Given the description of an element on the screen output the (x, y) to click on. 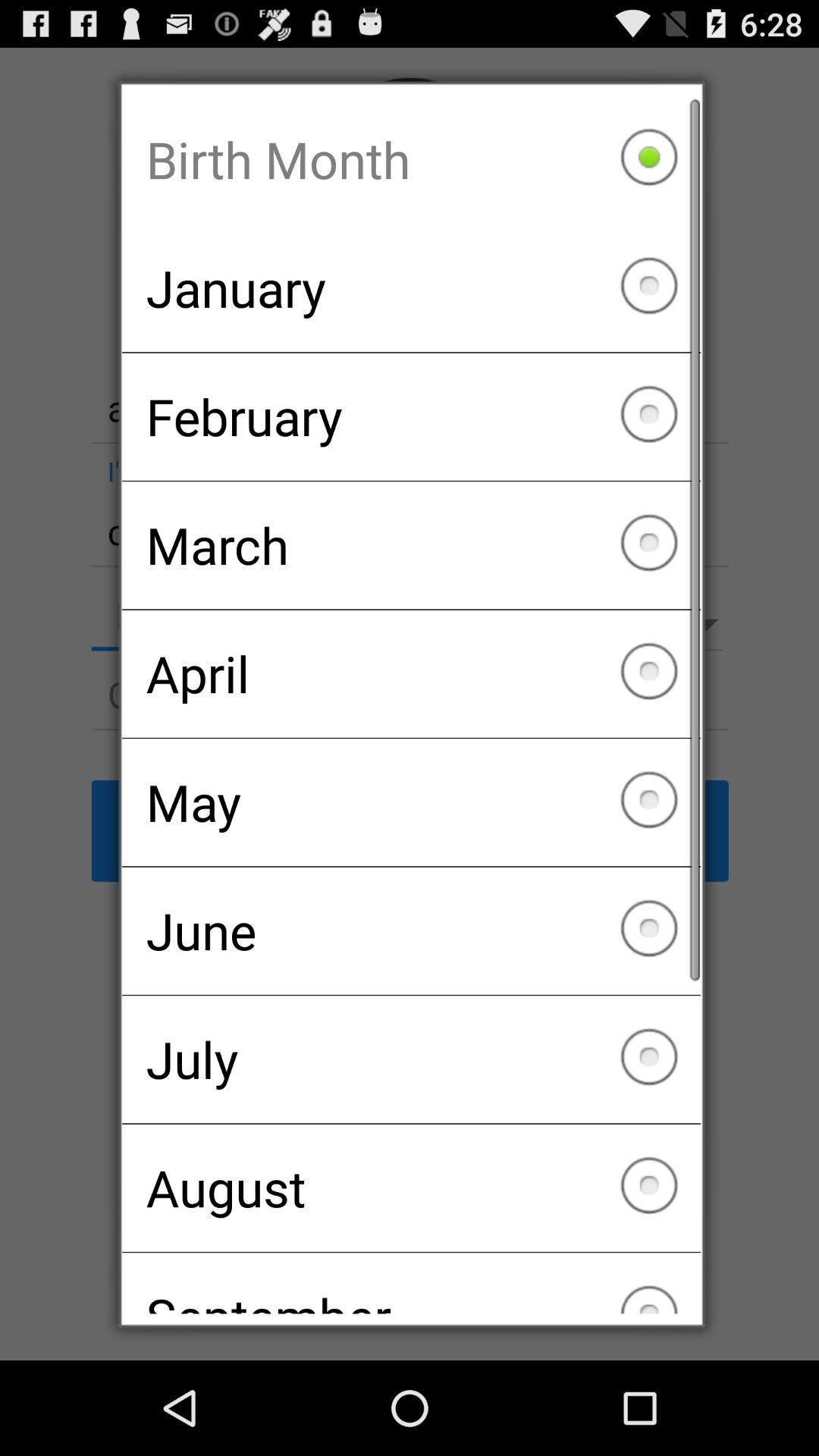
scroll until june checkbox (411, 930)
